Given the description of an element on the screen output the (x, y) to click on. 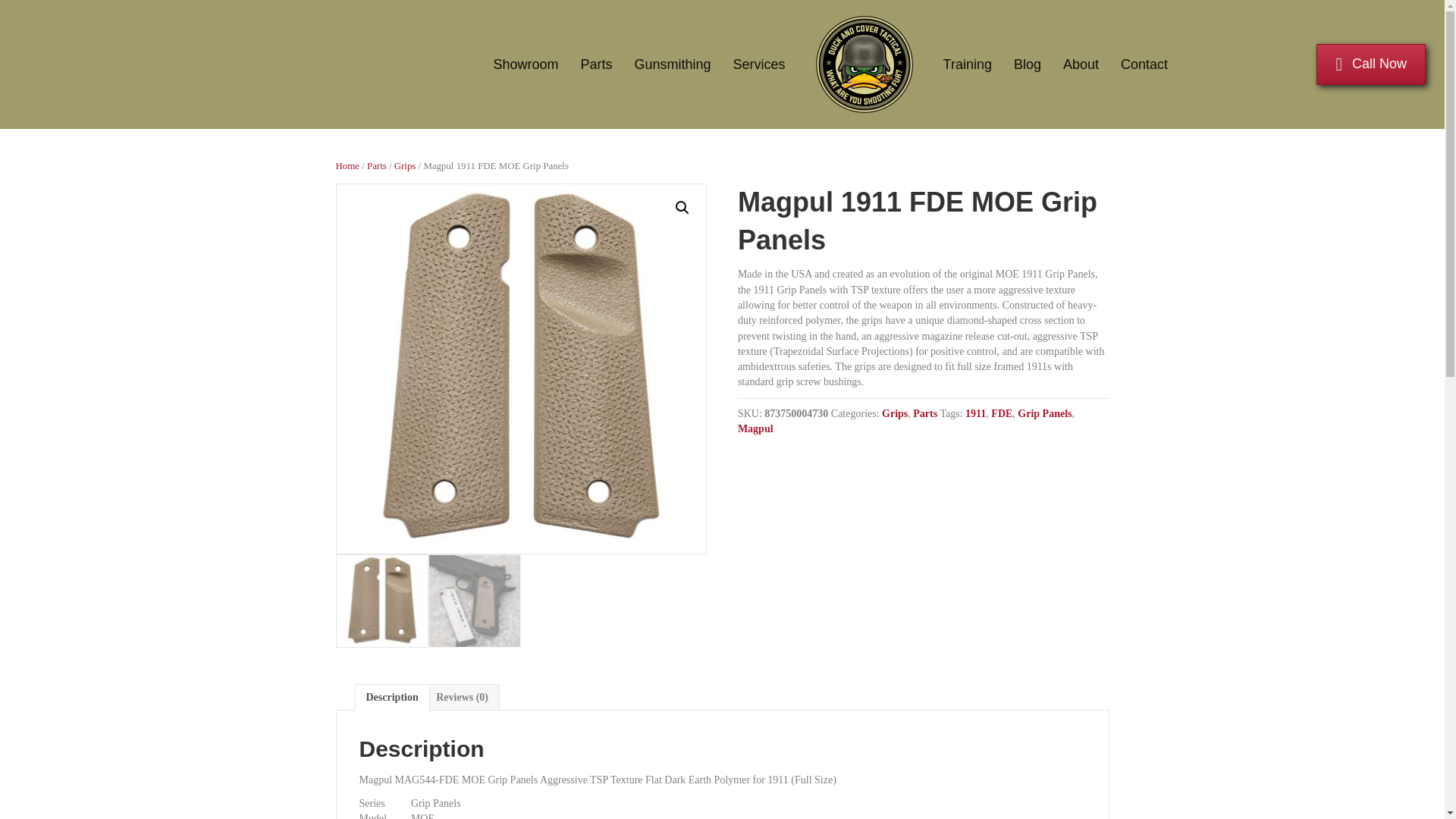
Showroom (525, 63)
Parts (596, 63)
